Given the description of an element on the screen output the (x, y) to click on. 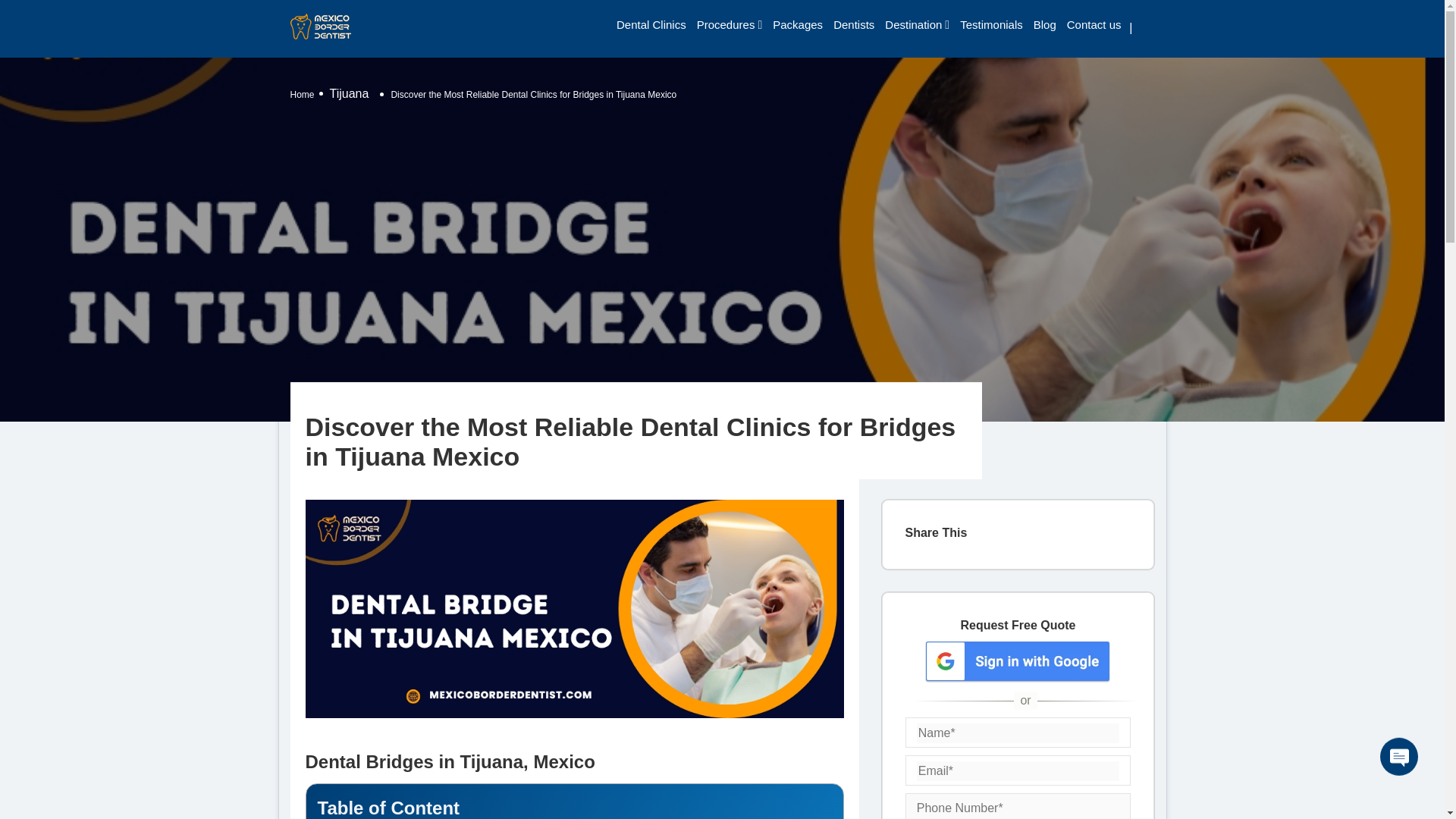
Procedures (726, 24)
Dental Bridge in Tijuana (573, 608)
Dental Clinics (650, 24)
